Given the description of an element on the screen output the (x, y) to click on. 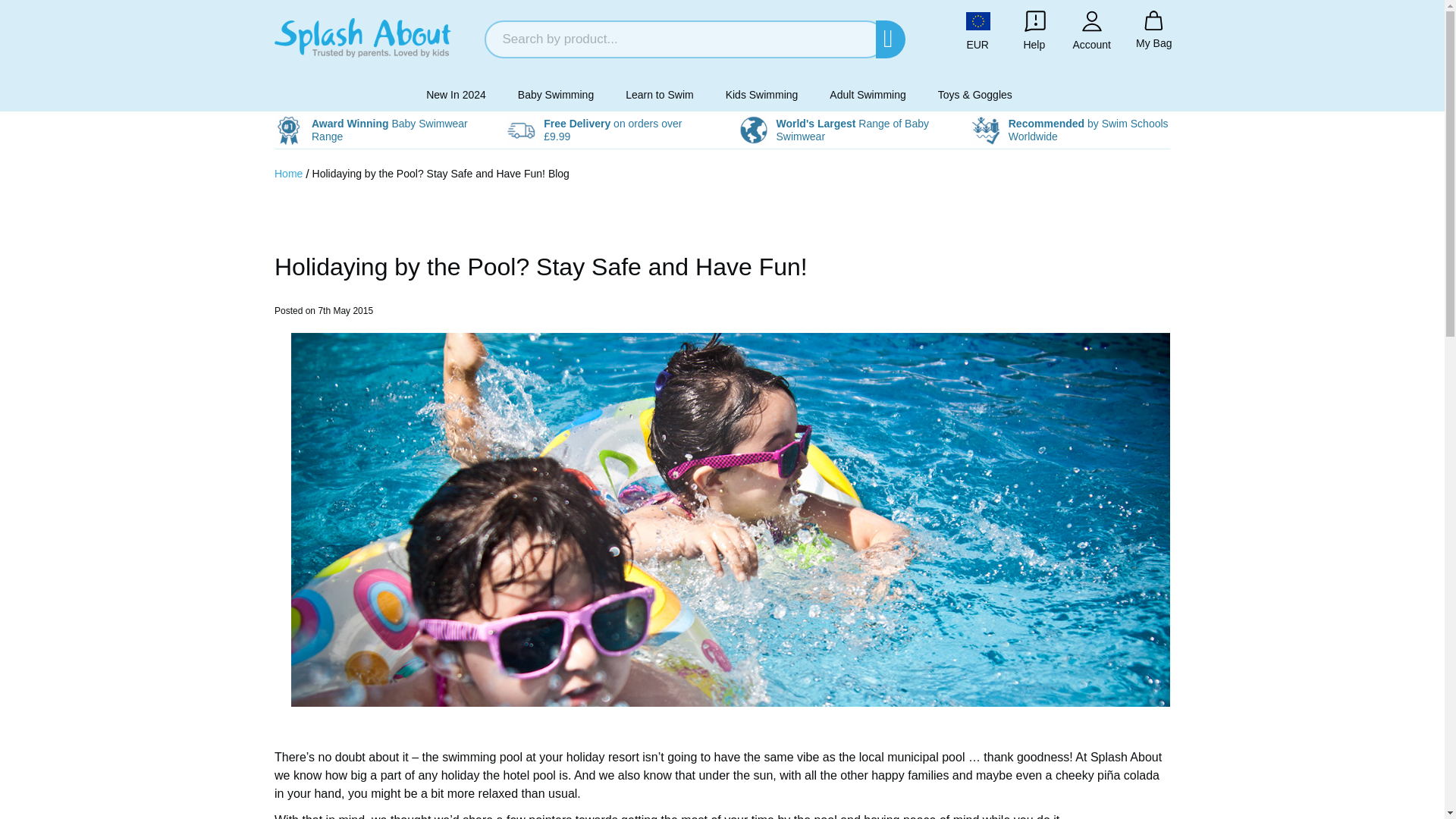
New In 2024 (458, 94)
Learn to Swim (661, 94)
Splash About (363, 38)
Baby Swimming (558, 94)
Go to Home Page (290, 173)
Splash About (373, 38)
